Given the description of an element on the screen output the (x, y) to click on. 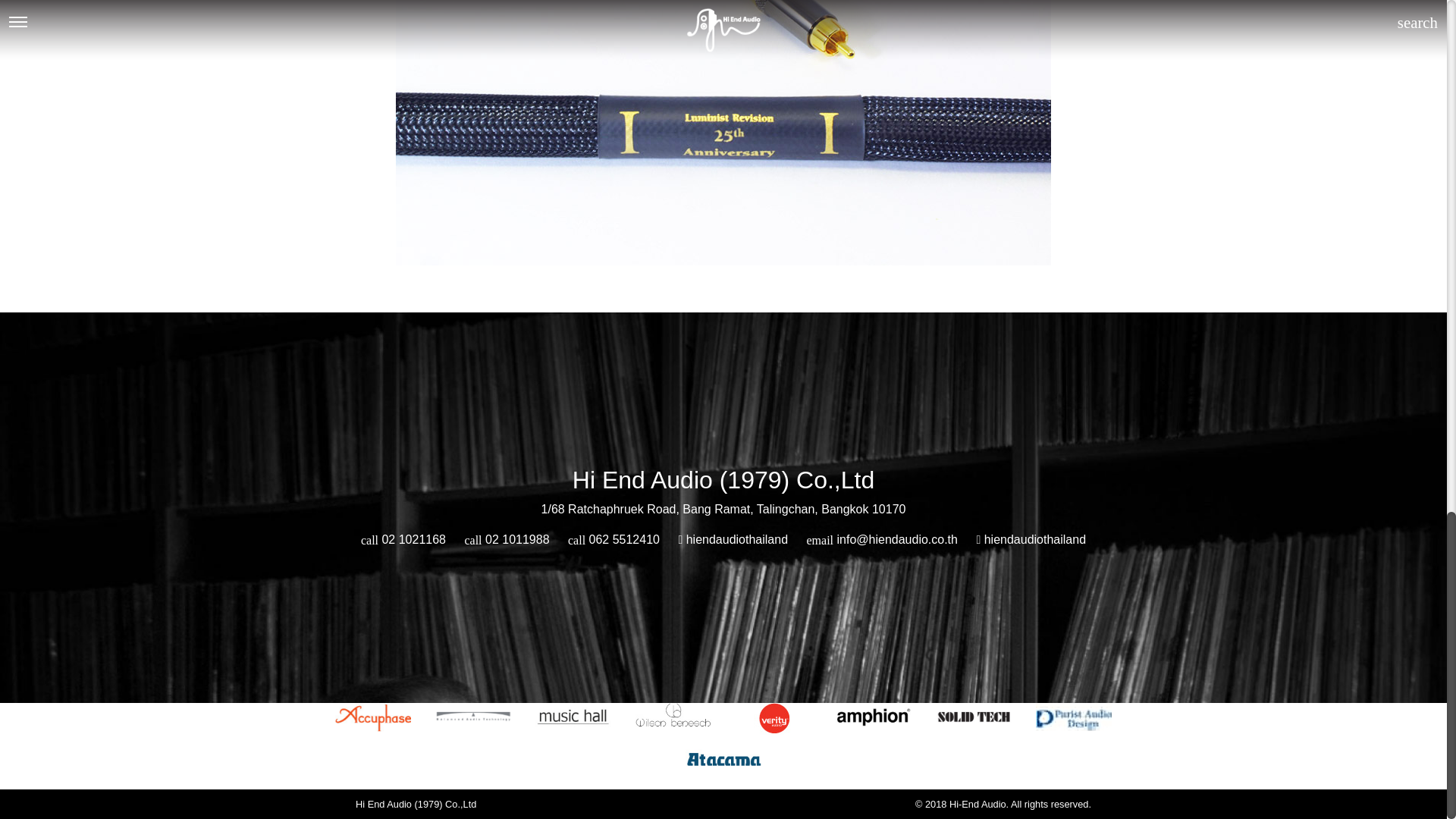
call 02 1011988 (506, 539)
hiendaudiothailand (732, 539)
call 02 1021168 (403, 539)
call 062 5512410 (613, 539)
hiendaudiothailand (1030, 539)
